Given the description of an element on the screen output the (x, y) to click on. 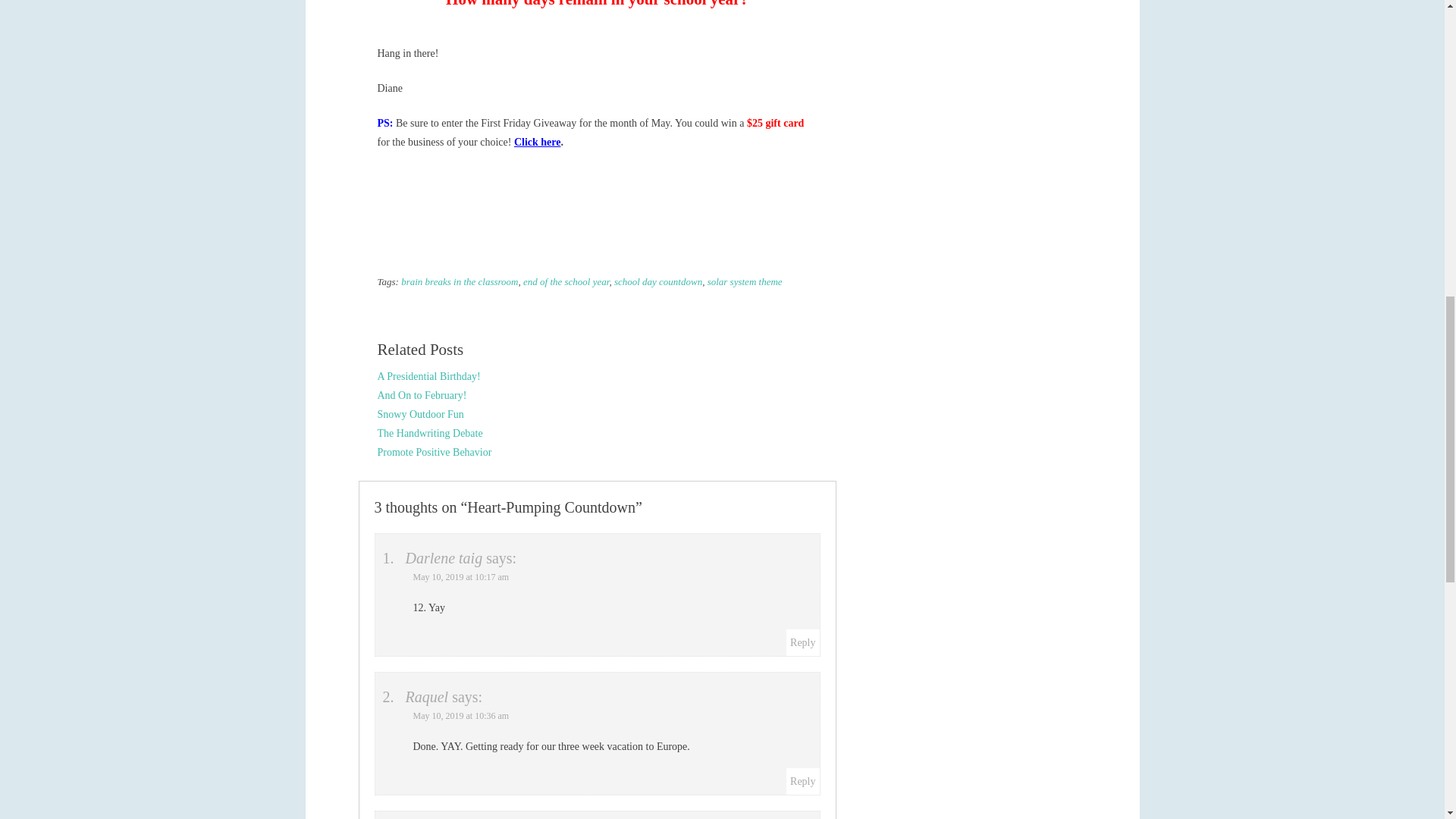
Click here (536, 142)
school day countdown (657, 281)
And On to February! (422, 395)
Promote Positive Behavior (434, 451)
solar system theme (745, 281)
Reply (802, 781)
Snowy Outdoor Fun (420, 414)
A Presidential Birthday! (428, 376)
May 10, 2019 at 10:36 am (460, 715)
The Handwriting Debate (430, 432)
end of the school year (565, 281)
The Handwriting Debate (430, 432)
May 10, 2019 at 10:17 am (460, 576)
Promote Positive Behavior (434, 451)
A Presidential Birthday! (428, 376)
